Given the description of an element on the screen output the (x, y) to click on. 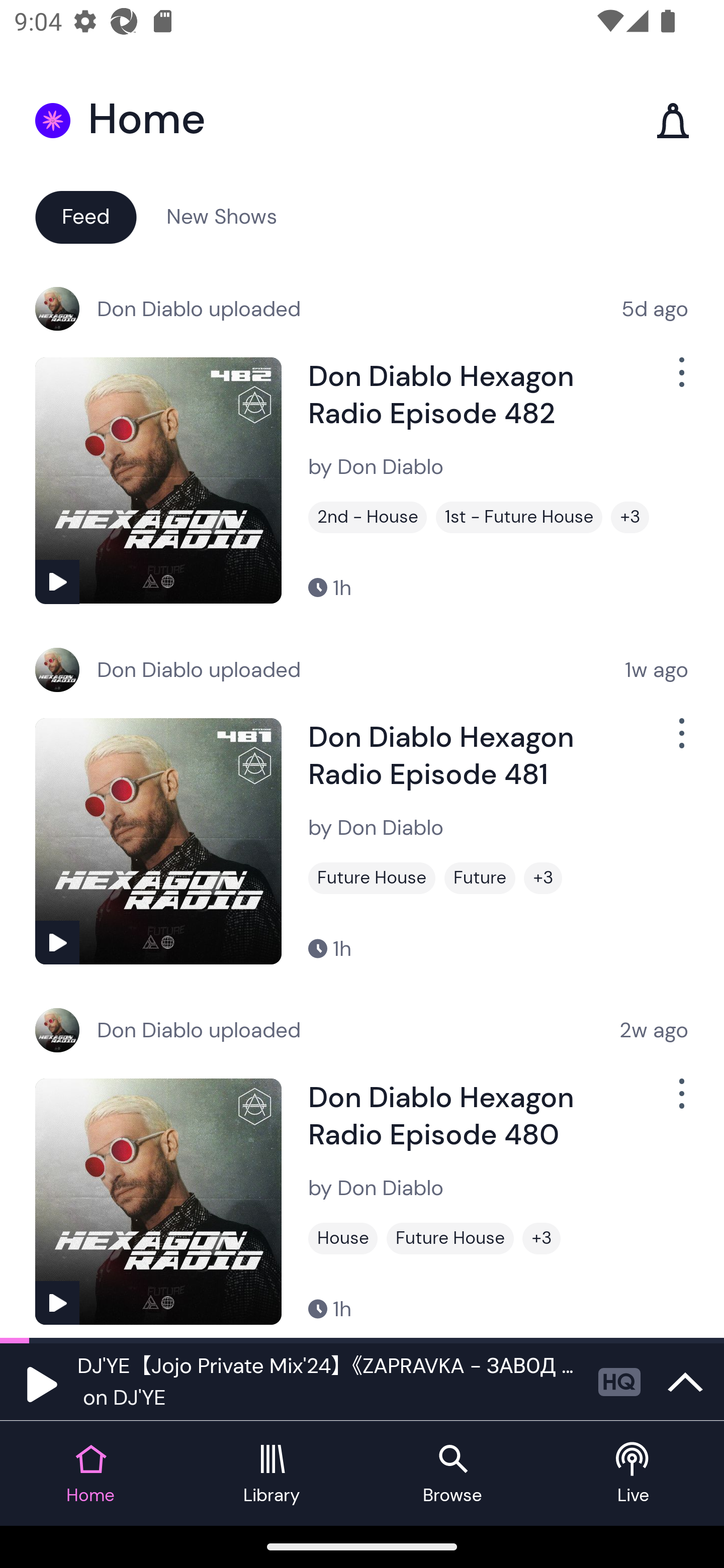
Feed (85, 216)
New Shows (221, 216)
Show Options Menu Button (679, 379)
2nd - House (367, 517)
1st - Future House (518, 517)
Show Options Menu Button (679, 740)
Future House (371, 877)
Future (479, 877)
Show Options Menu Button (679, 1101)
House (342, 1238)
Future House (450, 1238)
Home tab Home (90, 1473)
Library tab Library (271, 1473)
Browse tab Browse (452, 1473)
Live tab Live (633, 1473)
